Given the description of an element on the screen output the (x, y) to click on. 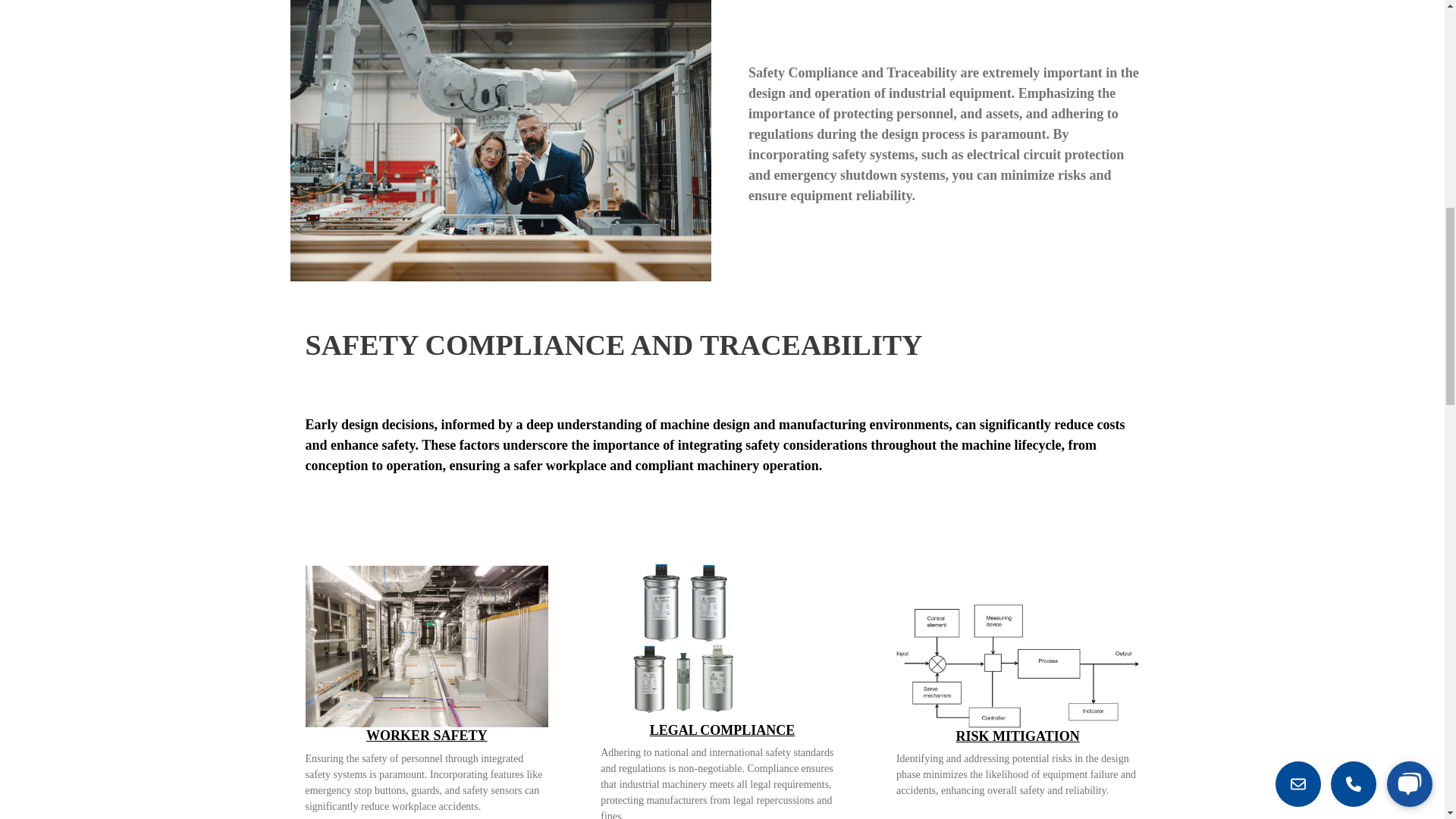
Simple process control circuit (1018, 666)
Temperature control room of large building-1 (426, 646)
Application engineer helping with cost reduction (499, 140)
